Given the description of an element on the screen output the (x, y) to click on. 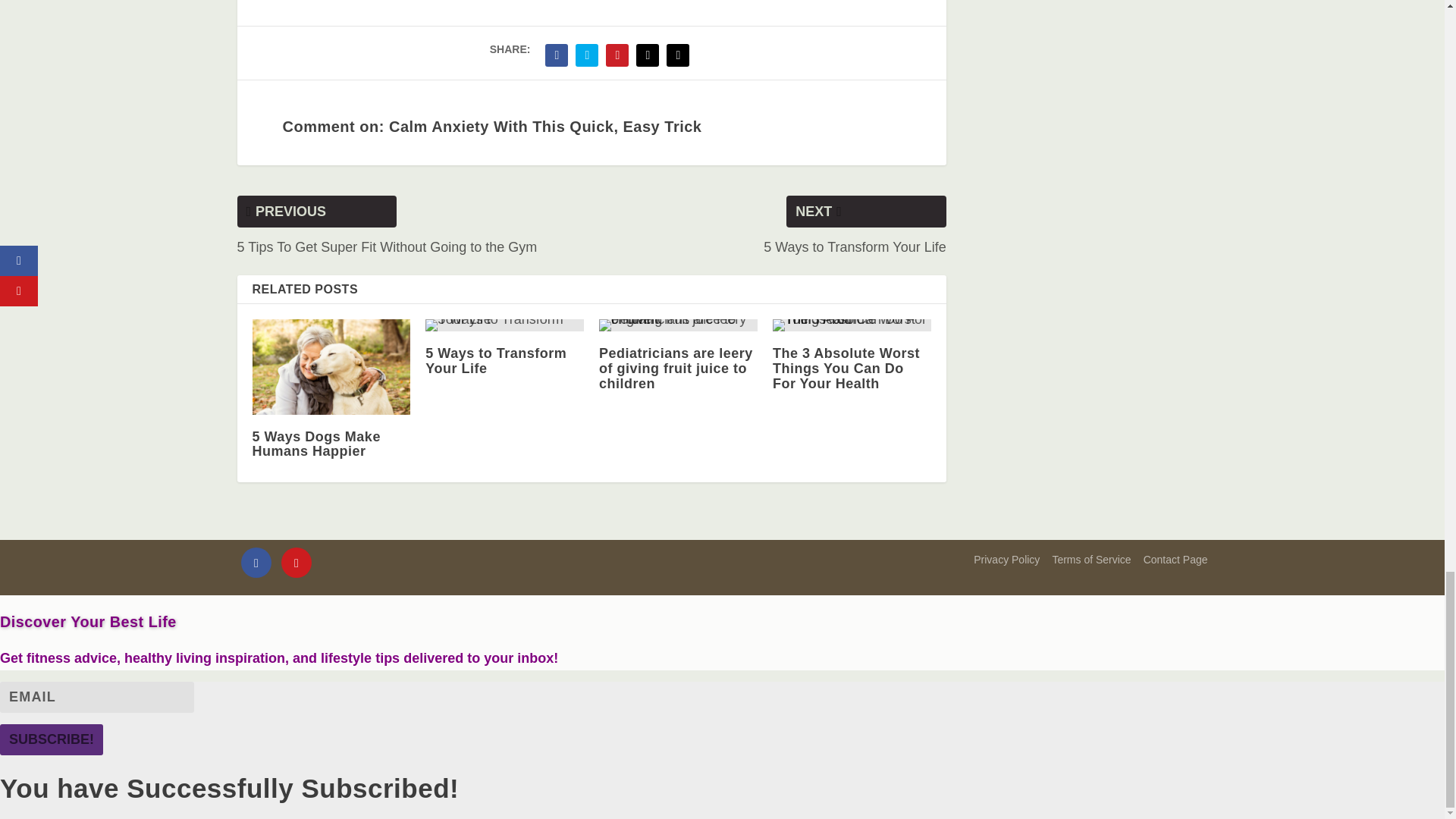
5 Ways to Transform Your Life (495, 360)
Pediatricians are leery of giving fruit juice to children (677, 325)
Share "Calm Anxiety With This Quick, Easy Trick" via Twitter (587, 55)
5 Ways to Transform Your Life (504, 325)
Terms of Service (1091, 559)
5 Ways Dogs Make Humans Happier (330, 366)
Share "Calm Anxiety With This Quick, Easy Trick" via Print (677, 55)
The 3 Absolute Worst Things You Can Do For Your Health (846, 368)
Share "Calm Anxiety With This Quick, Easy Trick" via Email (646, 55)
